Given the description of an element on the screen output the (x, y) to click on. 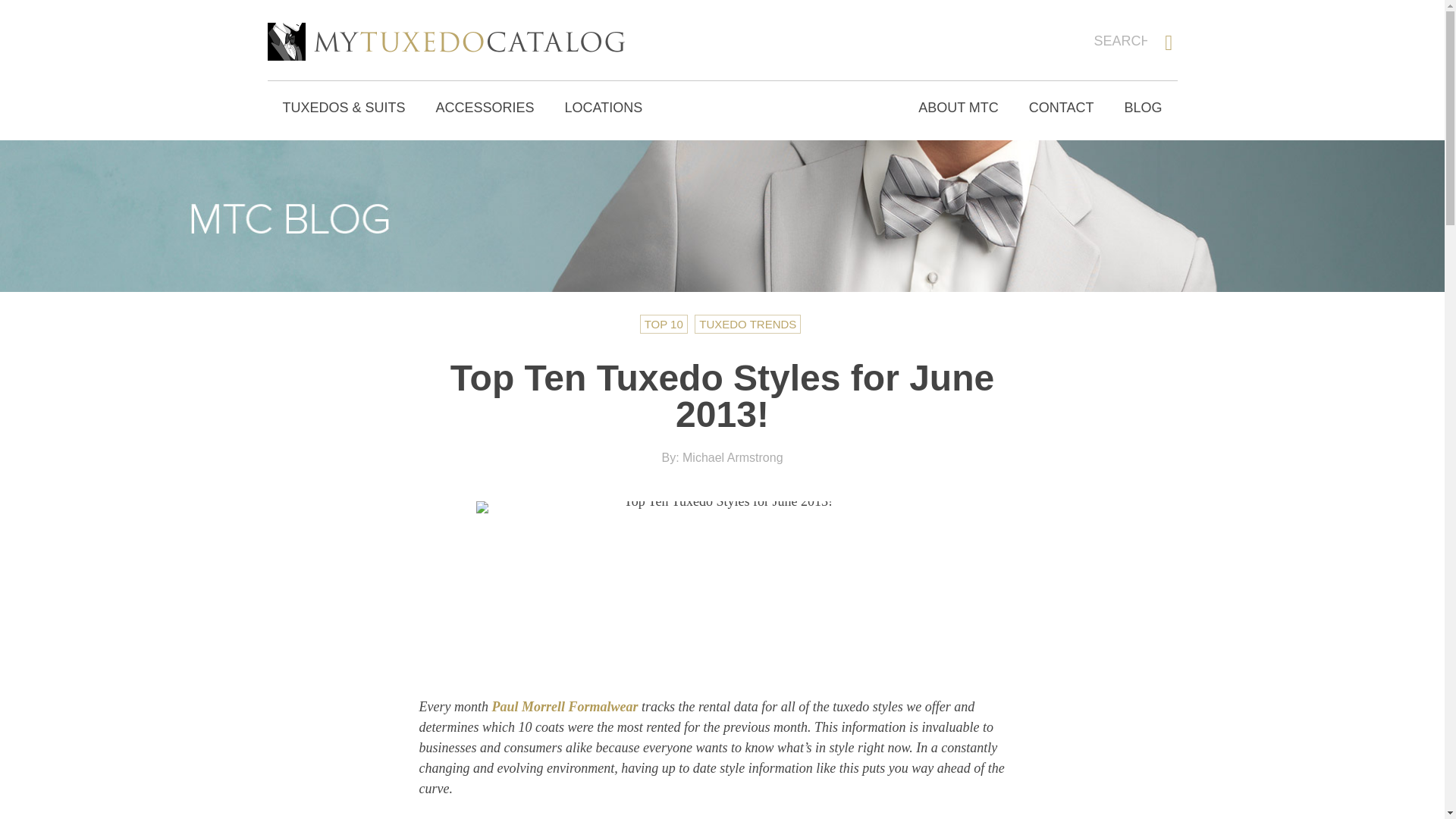
LOCATIONS (604, 107)
Paul Morrell Formalwear Website (564, 706)
Top Ten Tuxedo Styles for June 2013! (722, 583)
ACCESSORIES (485, 107)
My Tuxedo Catalog (445, 41)
